Given the description of an element on the screen output the (x, y) to click on. 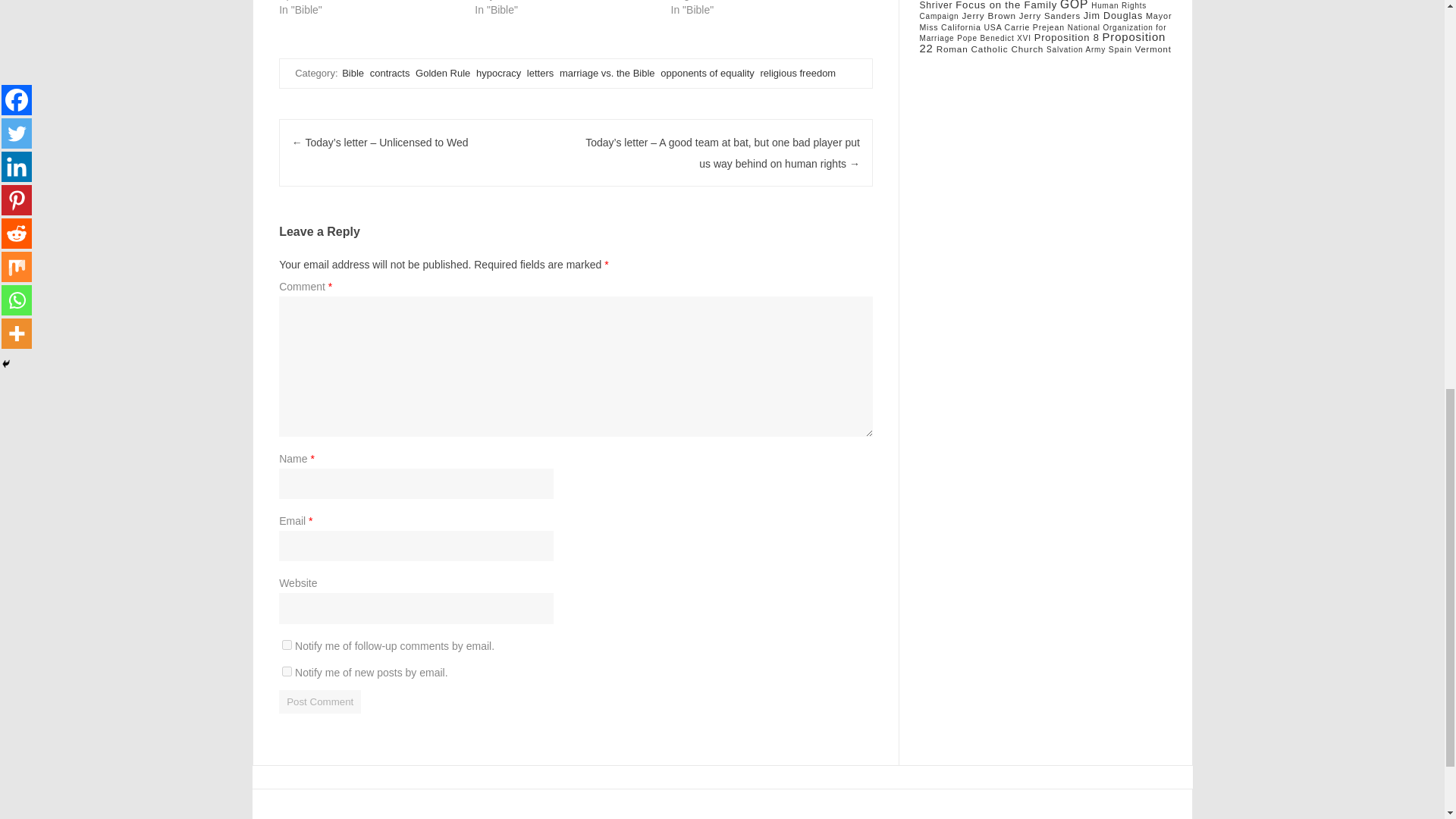
Post Comment (320, 701)
Bible (352, 73)
contracts (390, 73)
subscribe (287, 644)
subscribe (287, 671)
